Given the description of an element on the screen output the (x, y) to click on. 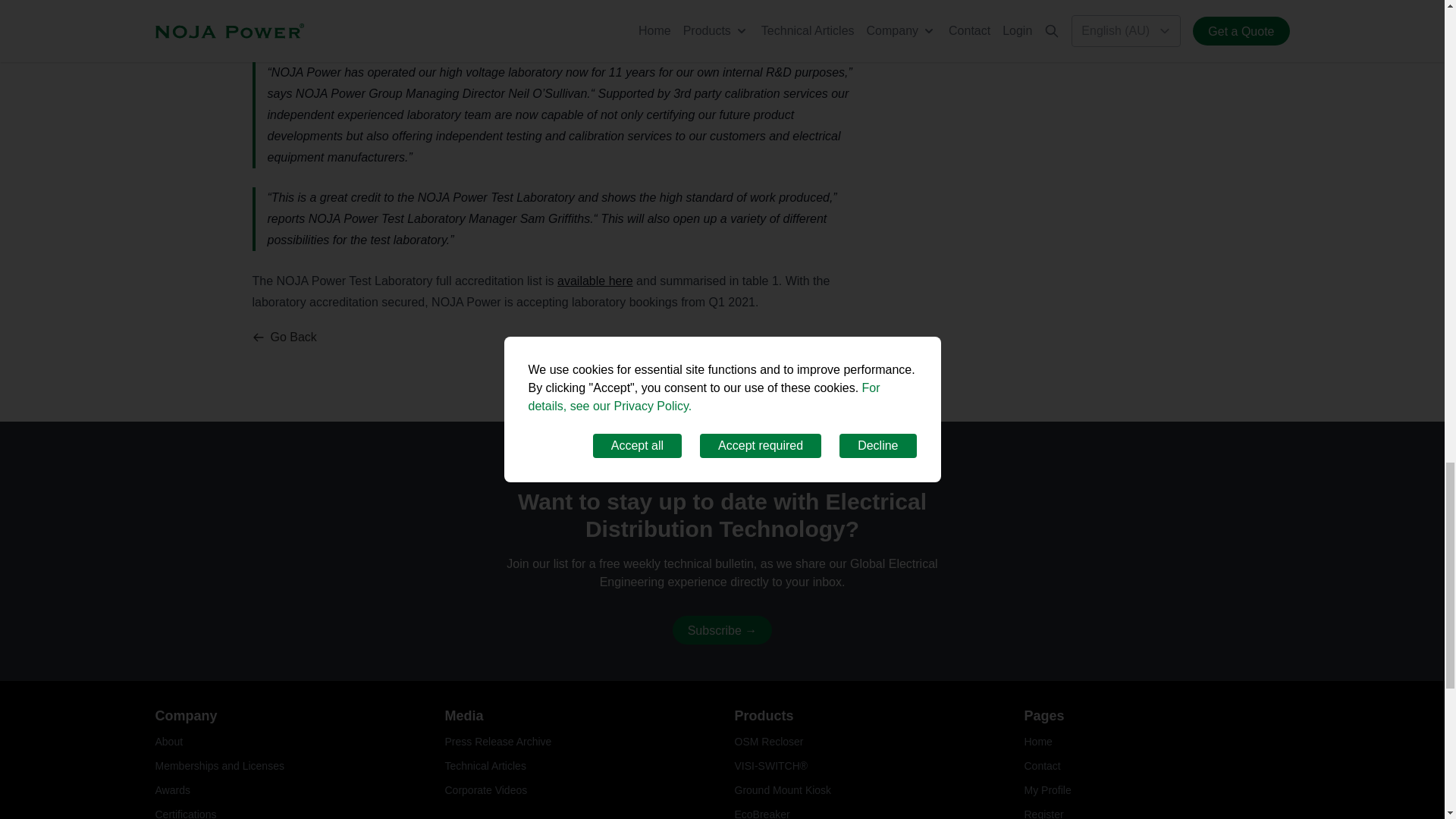
Memberships and Licenses (218, 766)
Certifications (184, 813)
About (168, 741)
Technical Articles (484, 766)
Go Back (283, 337)
Awards (171, 789)
Corporate Videos (485, 789)
available here (595, 280)
Press Release Archive (497, 741)
